Given the description of an element on the screen output the (x, y) to click on. 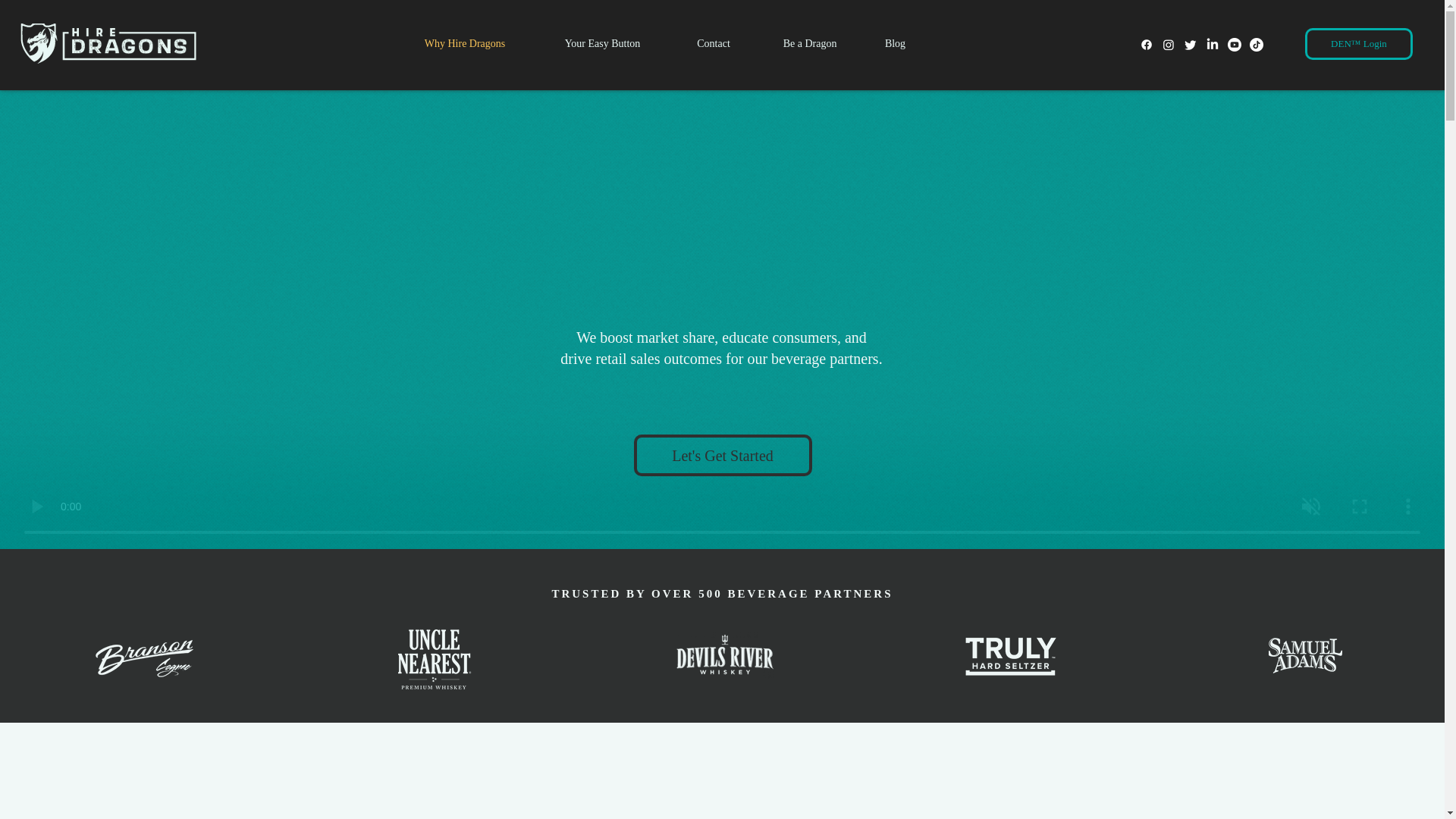
Your Easy Button (602, 43)
Contact (713, 43)
Be a Dragon (809, 43)
Blog (894, 43)
Why Hire Dragons (465, 43)
Let's Get Started (722, 454)
